Given the description of an element on the screen output the (x, y) to click on. 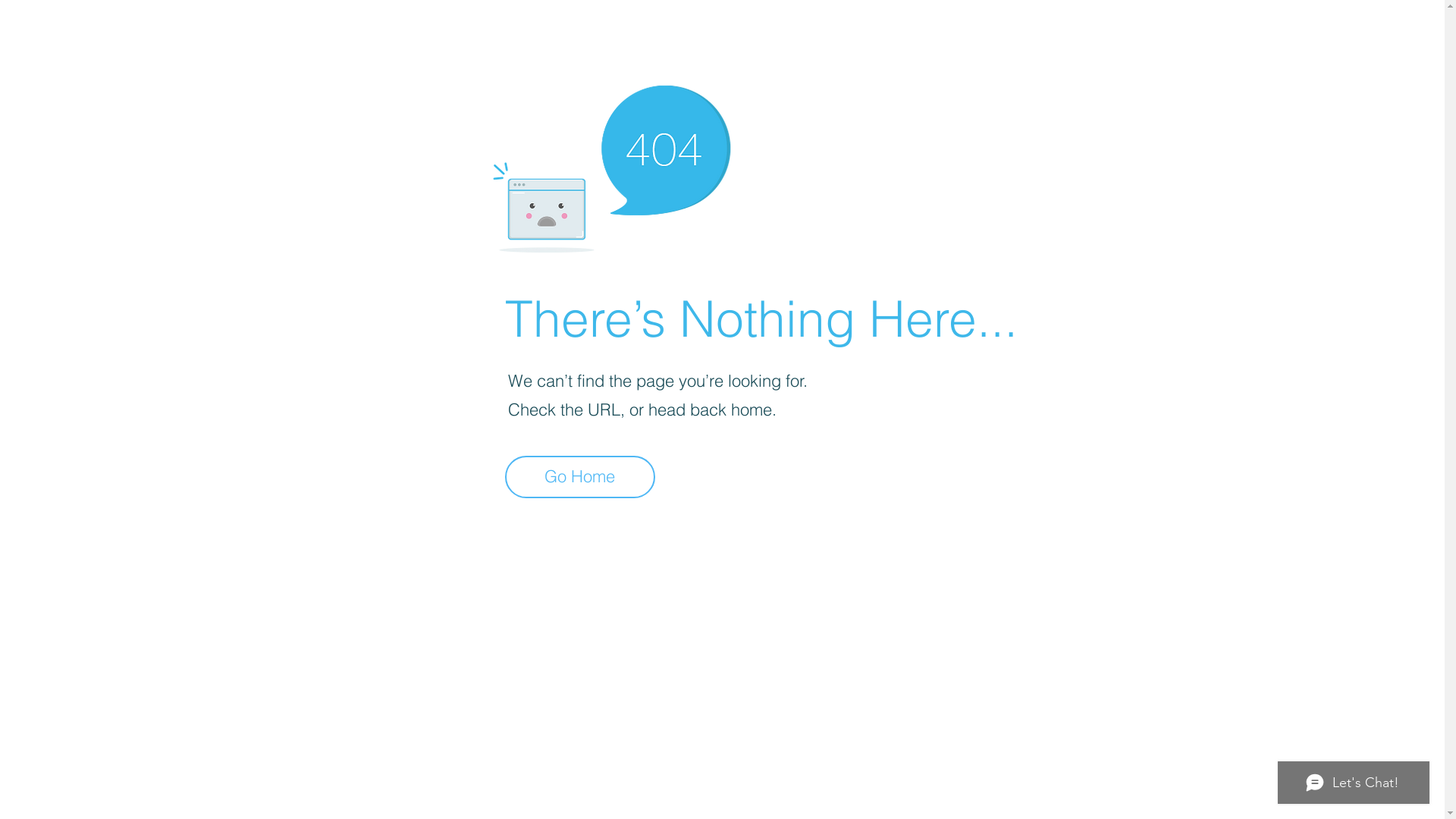
Go Home Element type: text (580, 476)
404-icon_2.png Element type: hover (610, 164)
